Given the description of an element on the screen output the (x, y) to click on. 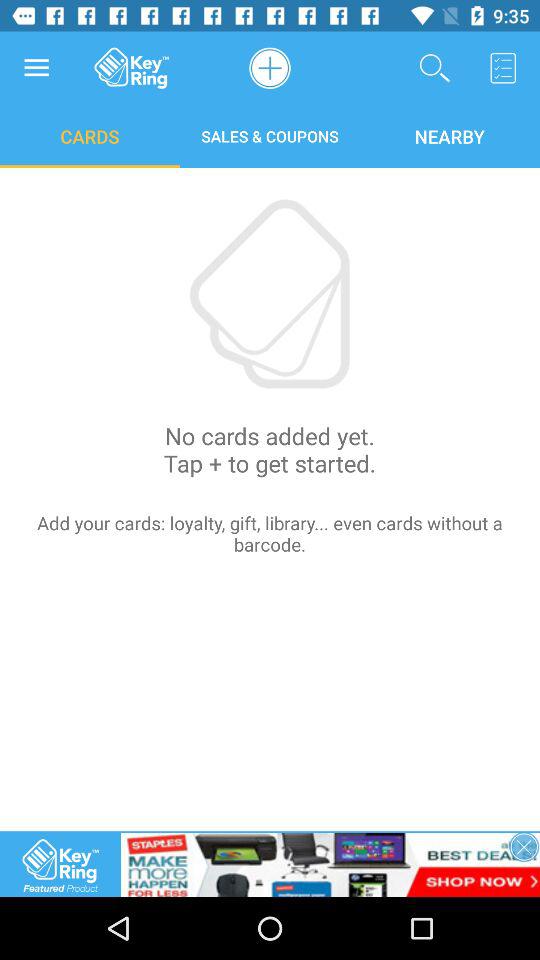
select search option on a page (435, 68)
select the icon which is after the menu (132, 68)
select add icon at the top of the page (269, 67)
